Given the description of an element on the screen output the (x, y) to click on. 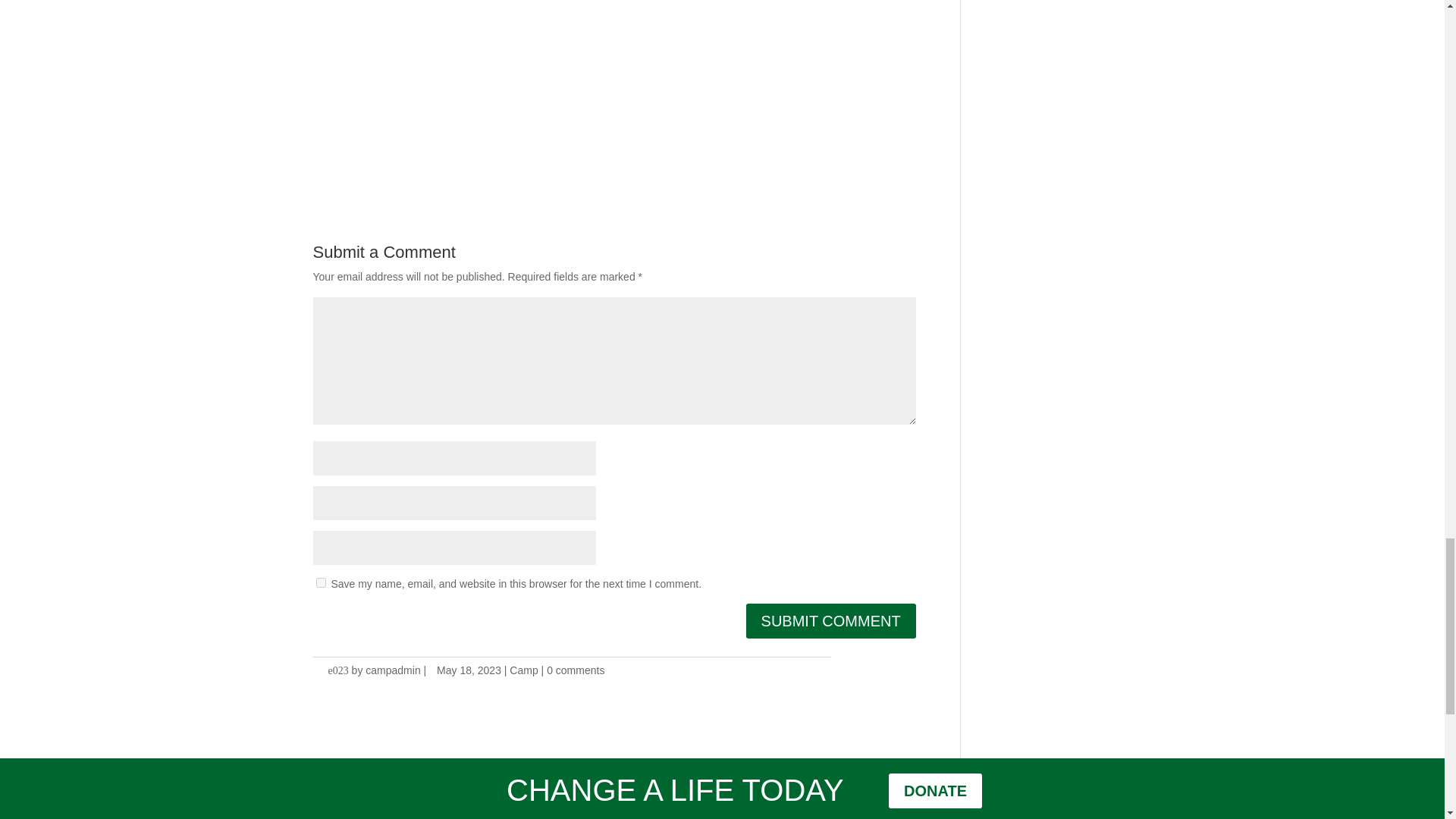
Posts by campadmin (392, 670)
yes (319, 583)
Submit Comment (830, 620)
